Given the description of an element on the screen output the (x, y) to click on. 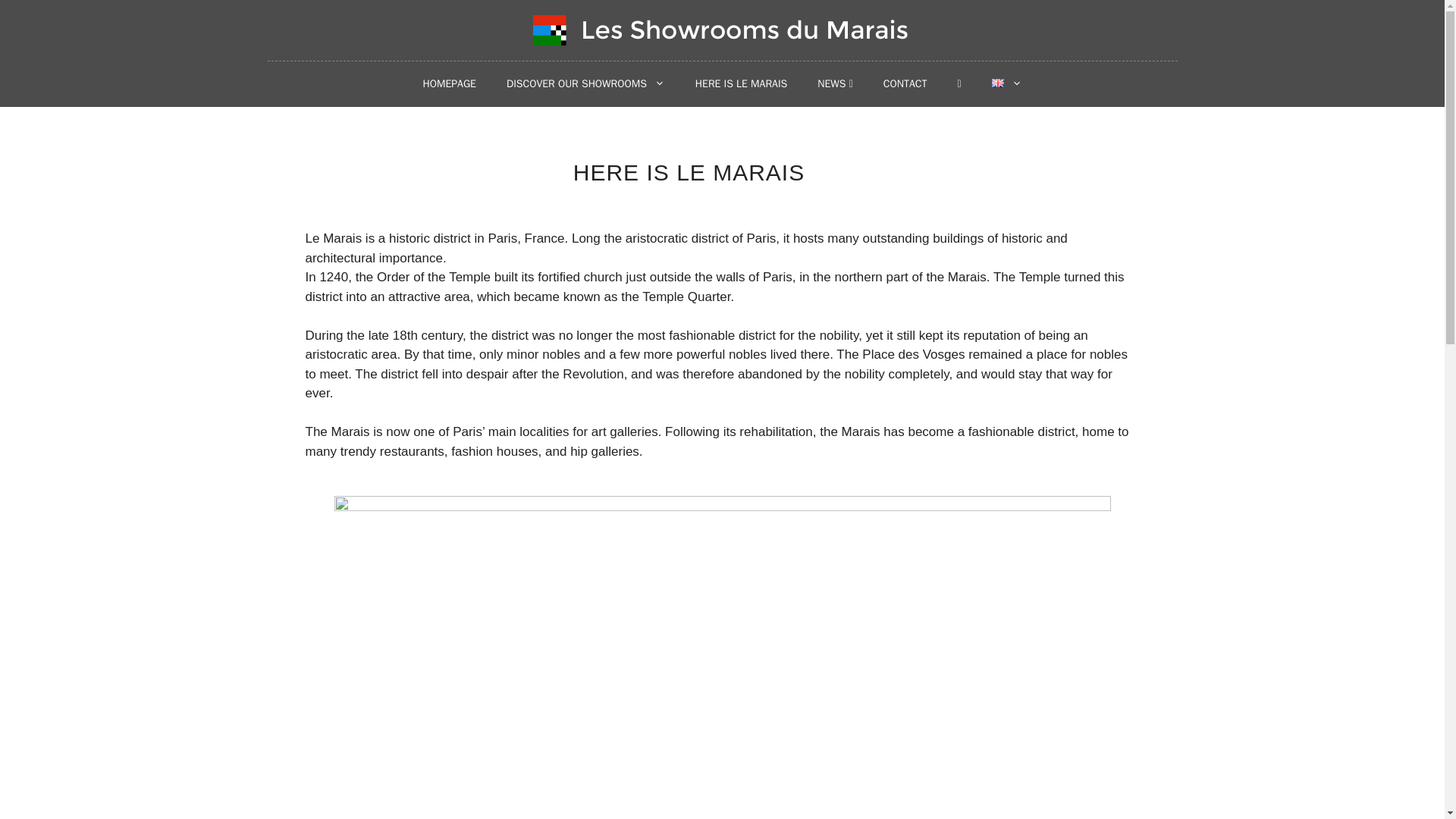
HOMEPAGE (449, 84)
NEWS (834, 84)
DISCOVER OUR SHOWROOMS (585, 84)
HERE IS LE MARAIS (740, 84)
CONTACT (904, 84)
